Given the description of an element on the screen output the (x, y) to click on. 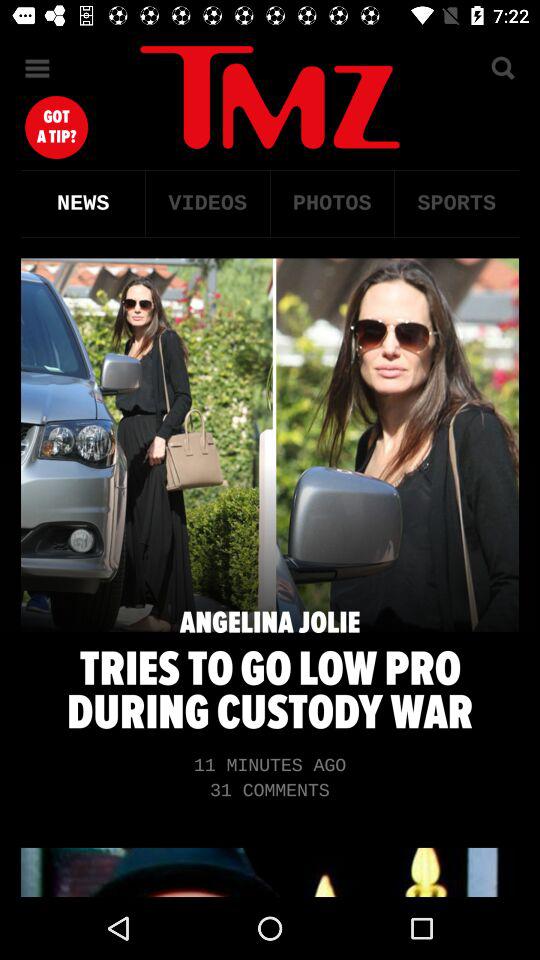
search option (502, 68)
